Given the description of an element on the screen output the (x, y) to click on. 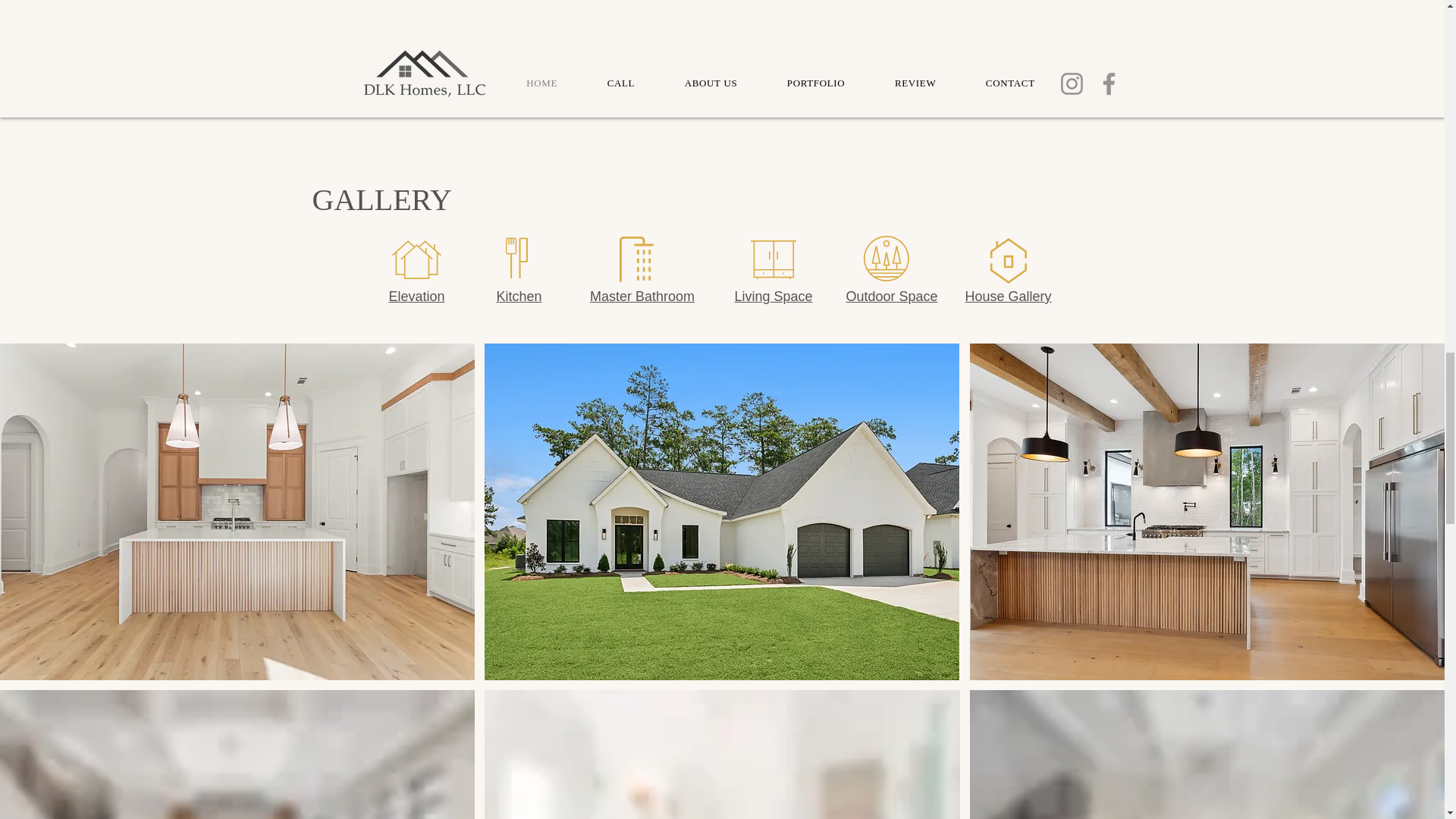
Outdoor Space (891, 296)
Master Bathroom (641, 296)
Elevation (416, 296)
House Gallery (1007, 296)
Kitchen (518, 296)
Living Space (772, 296)
